Given the description of an element on the screen output the (x, y) to click on. 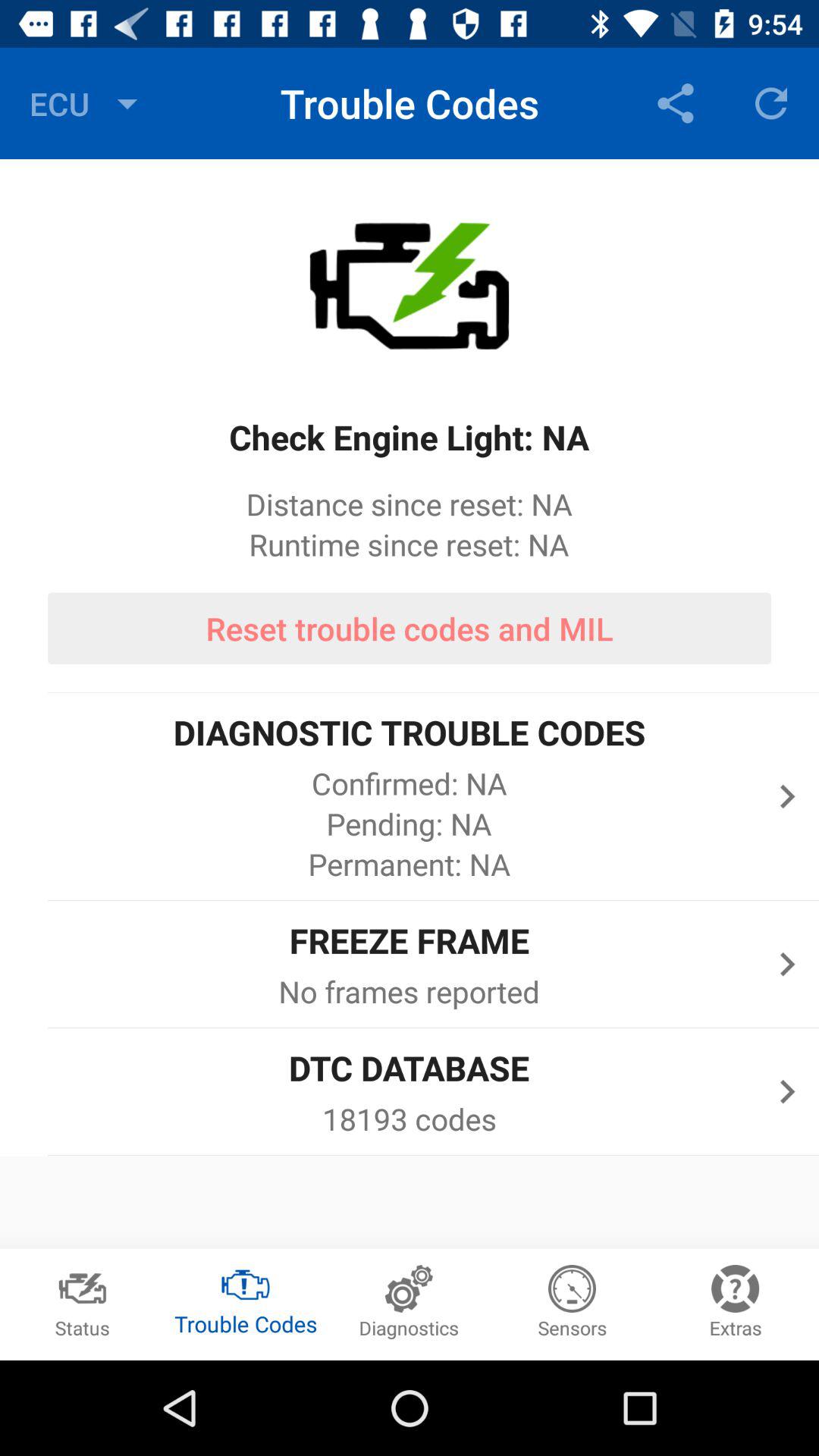
turn off the icon next to trouble codes item (675, 103)
